Given the description of an element on the screen output the (x, y) to click on. 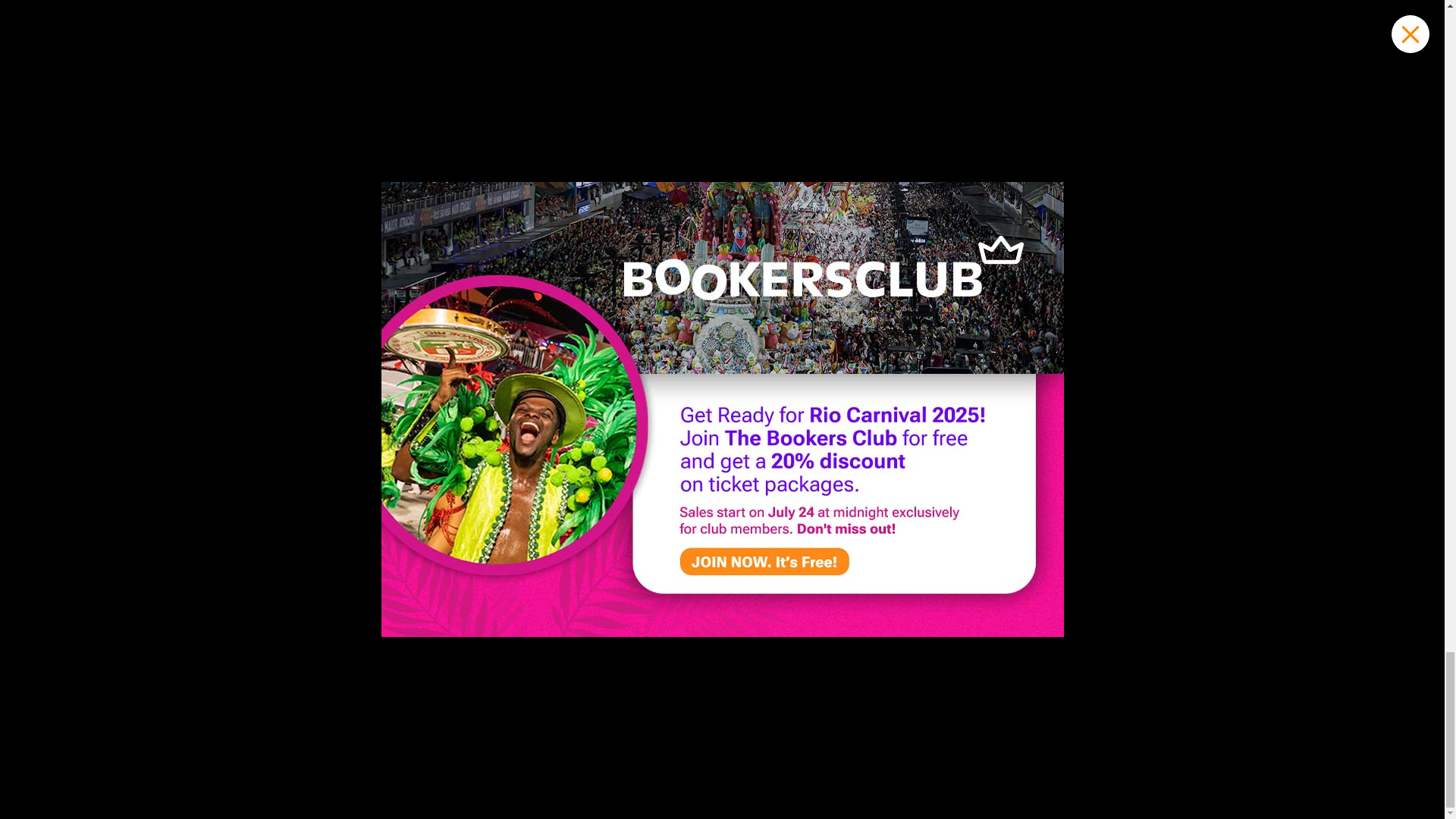
Balls (296, 469)
Magic Ball at the Copa (344, 518)
Rio Neighborhood (554, 345)
Rio Carnival 2025 (331, 370)
Rio Carnival Guide (334, 494)
Rio Beaches (540, 321)
About US (976, 321)
Recife and Olinda (776, 321)
Florianopolis (762, 370)
Rio Carnival Tickets (336, 321)
The Samba Parade (335, 395)
Street Parties (319, 543)
Buy Your Ticket Safely (343, 345)
Samba Schools (325, 445)
Rio Carnival Hospitality Desk 2025 (376, 568)
